Given the description of an element on the screen output the (x, y) to click on. 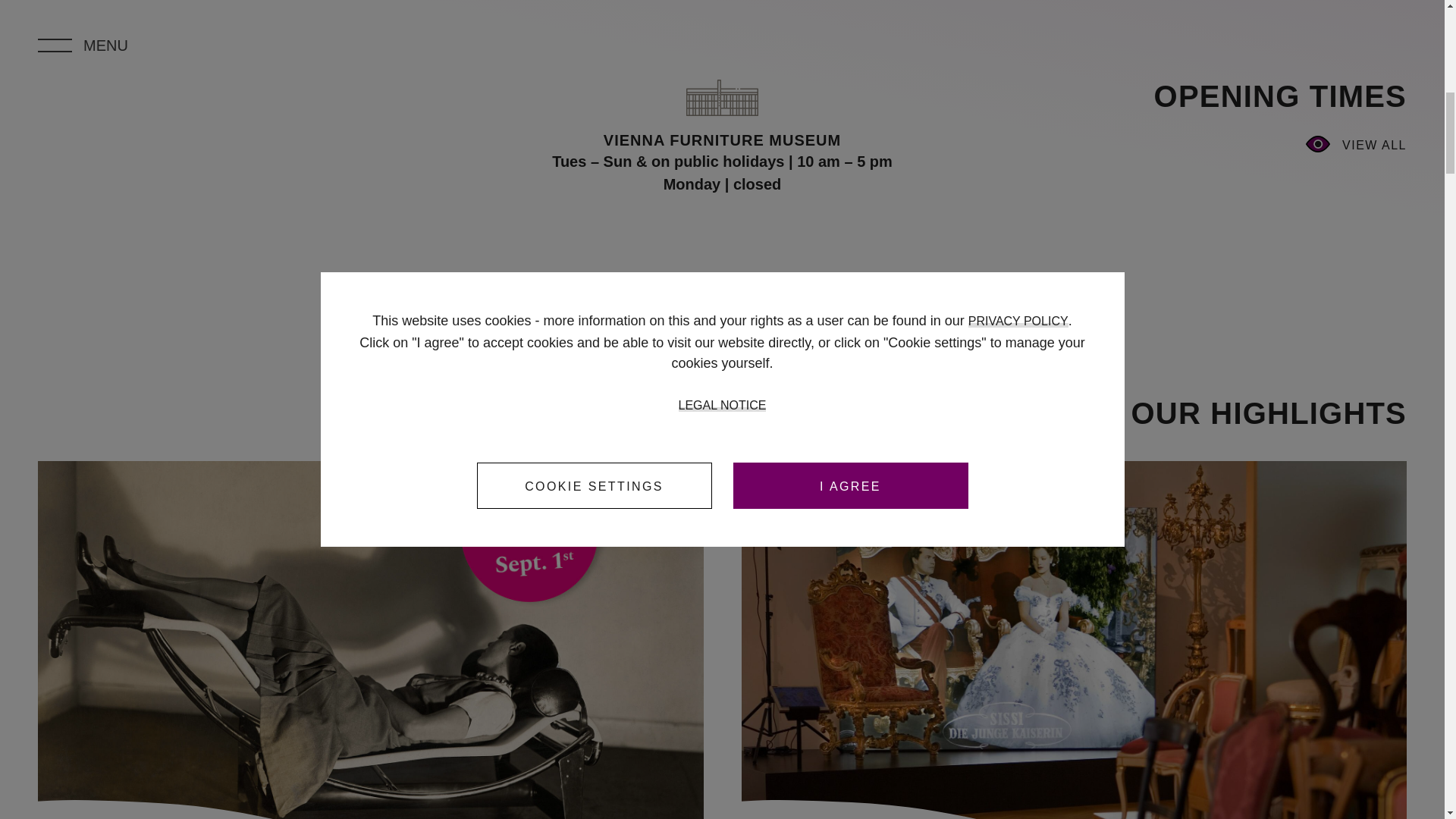
VIEW ALL (1243, 143)
